Given the description of an element on the screen output the (x, y) to click on. 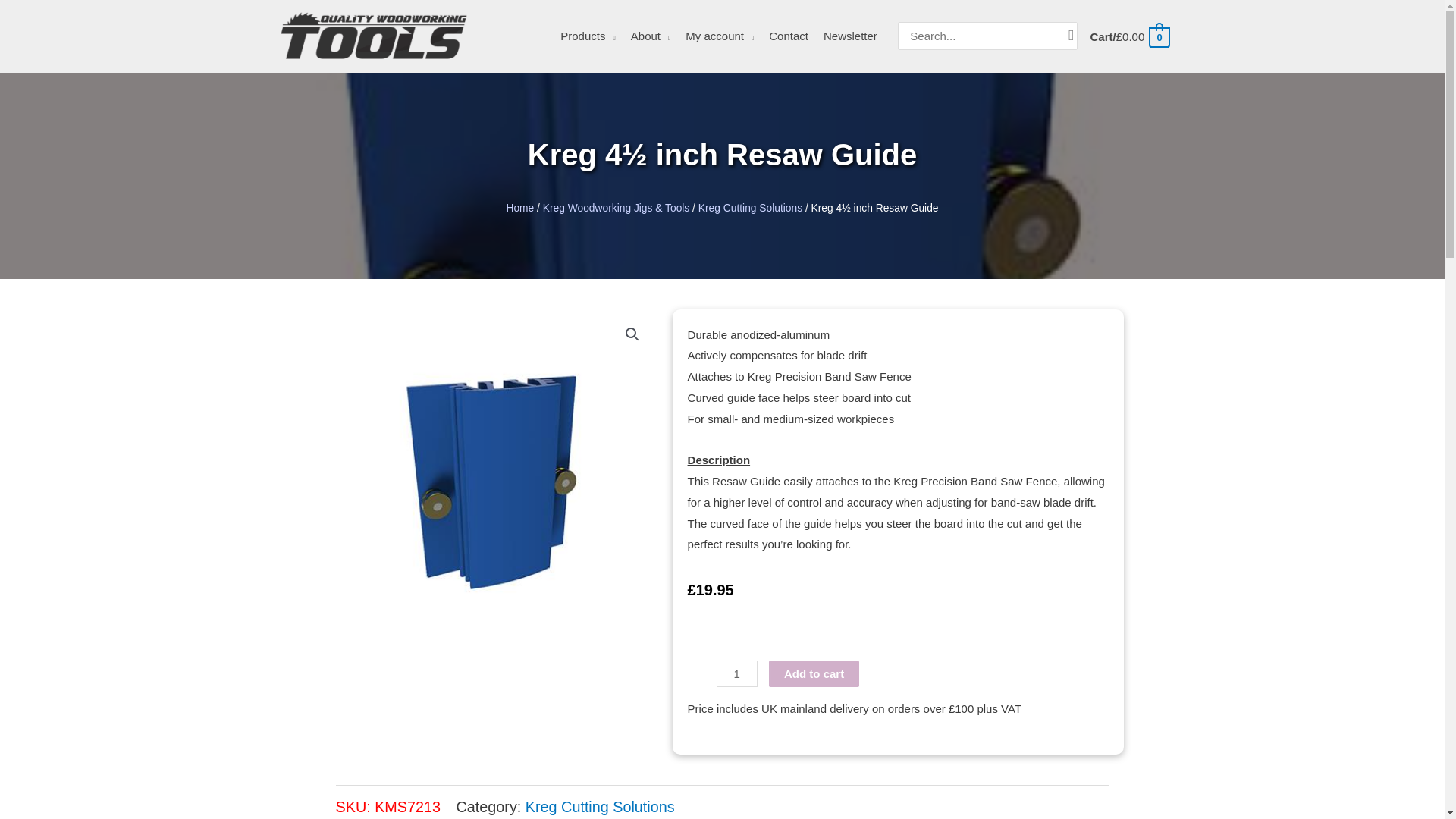
Products (588, 36)
1 (736, 673)
